Given the description of an element on the screen output the (x, y) to click on. 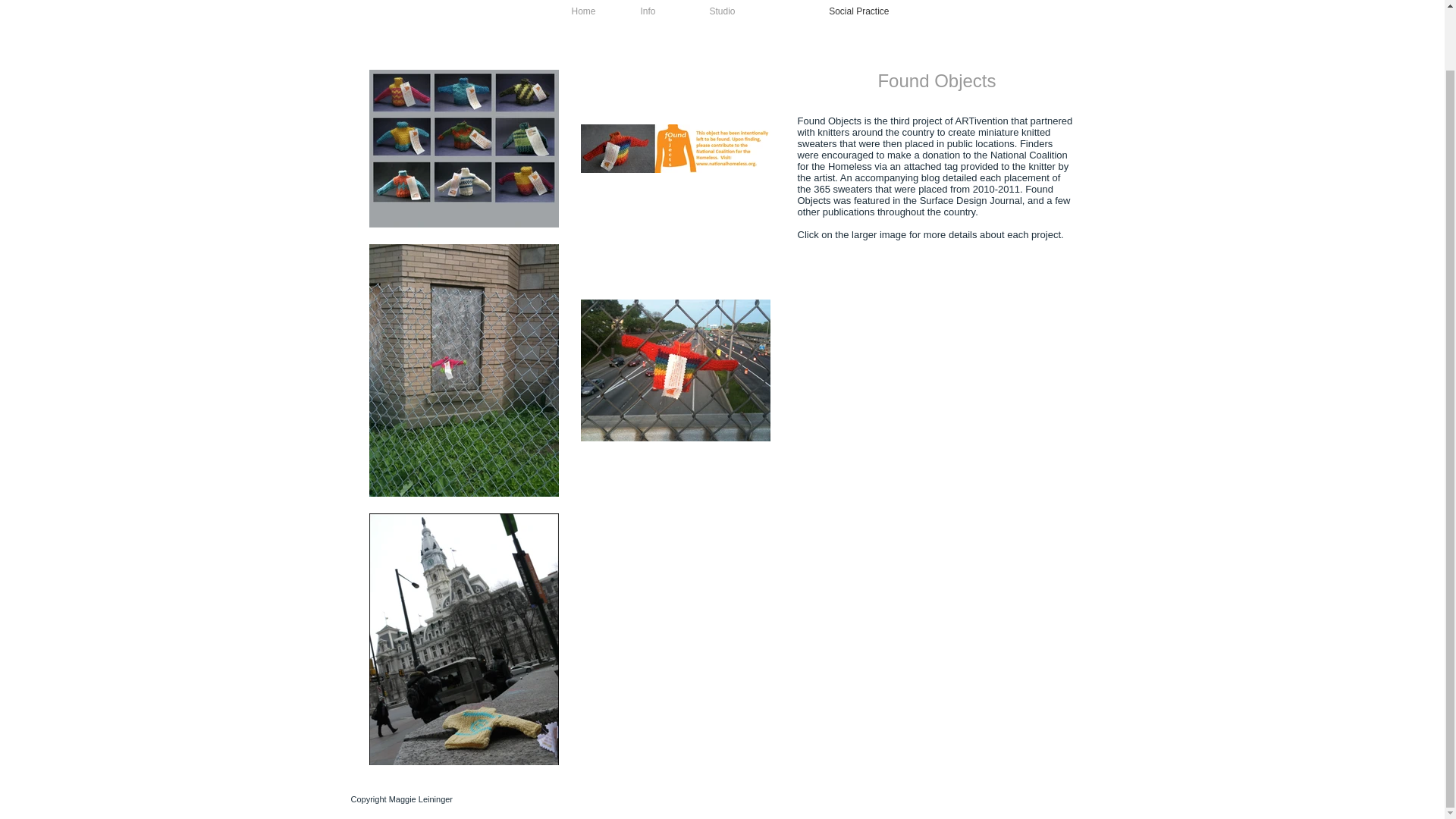
Home (574, 11)
Found Objects (829, 120)
Social Practice (824, 11)
Pin to Pinterest (736, 268)
Info (638, 11)
Studio (708, 11)
